Given the description of an element on the screen output the (x, y) to click on. 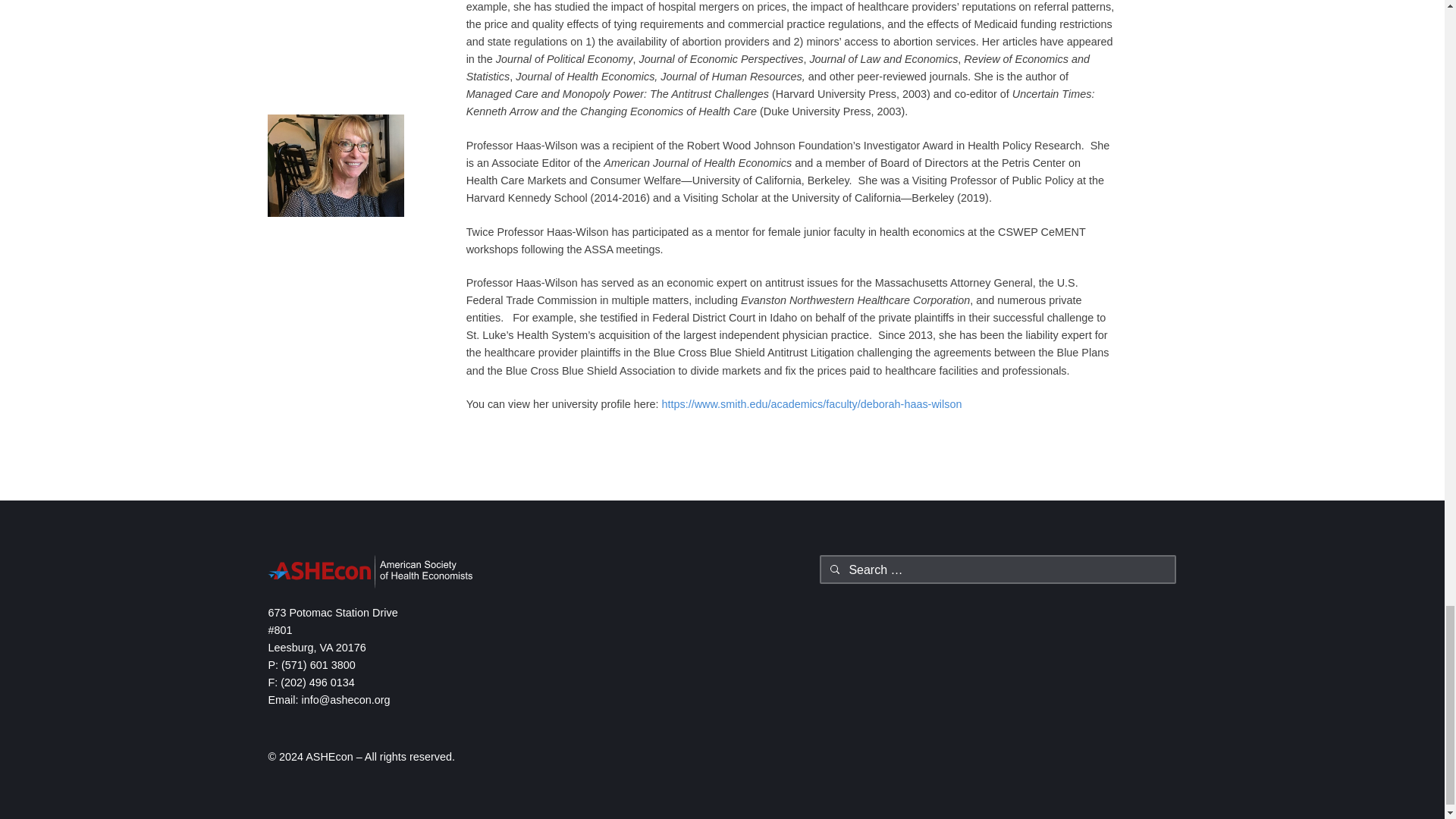
Search for: (997, 569)
